Given the description of an element on the screen output the (x, y) to click on. 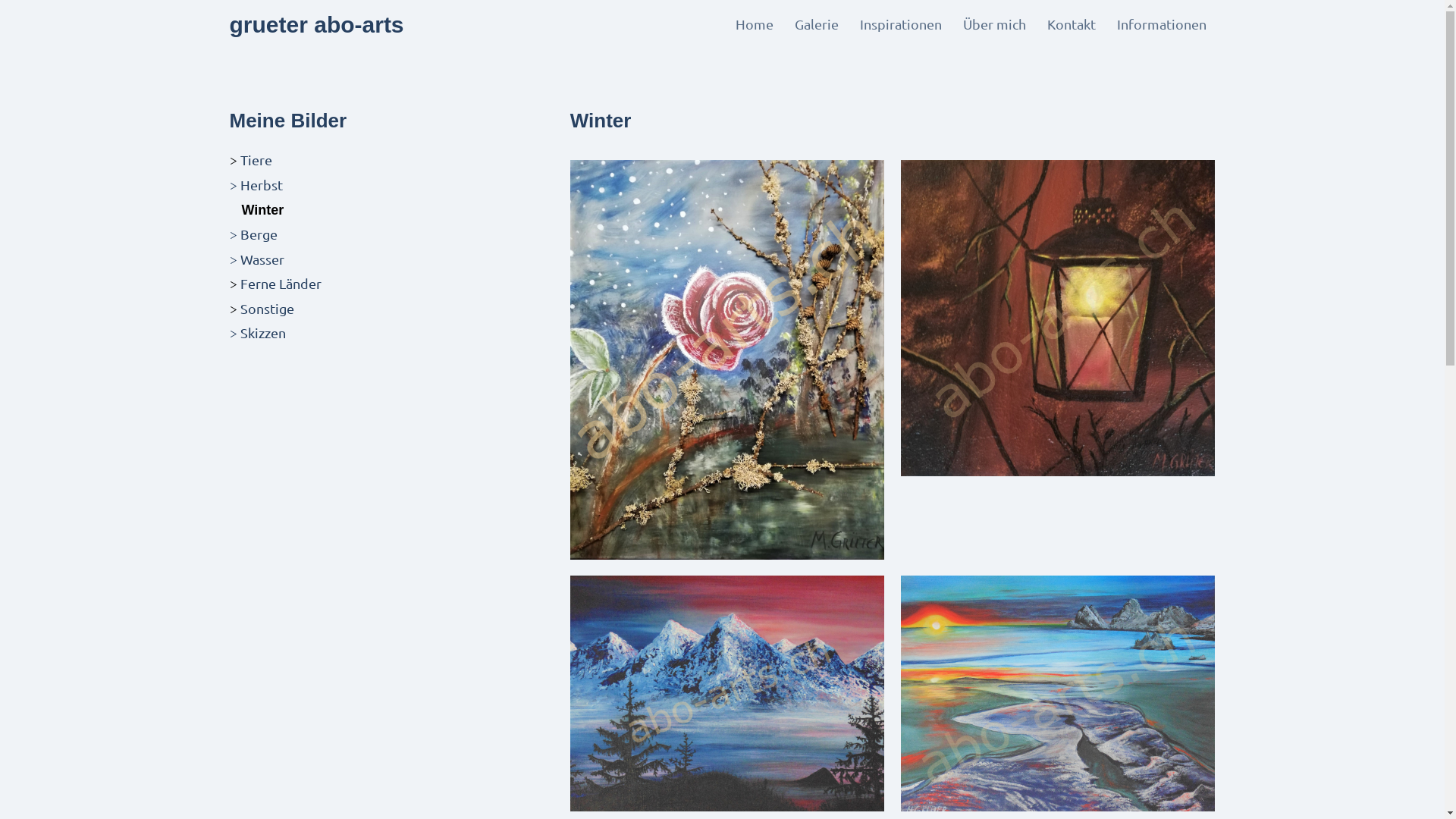
Galerie Element type: text (816, 24)
Inspirationen Element type: text (900, 24)
grueter abo-arts Element type: text (316, 24)
> Herbst Element type: text (255, 184)
Sonstige Element type: text (266, 308)
Meine Bilder Element type: text (287, 120)
Kontakt Element type: text (1070, 24)
Laternenlicht Element type: hover (1057, 317)
Informationen Element type: text (1160, 24)
Schneerose Element type: hover (727, 359)
Tiere Element type: text (255, 159)
Home Element type: text (754, 24)
> Berge Element type: text (252, 233)
Alpenglut Element type: hover (727, 693)
> Skizzen Element type: text (257, 332)
> Wasser Element type: text (256, 258)
